Given the description of an element on the screen output the (x, y) to click on. 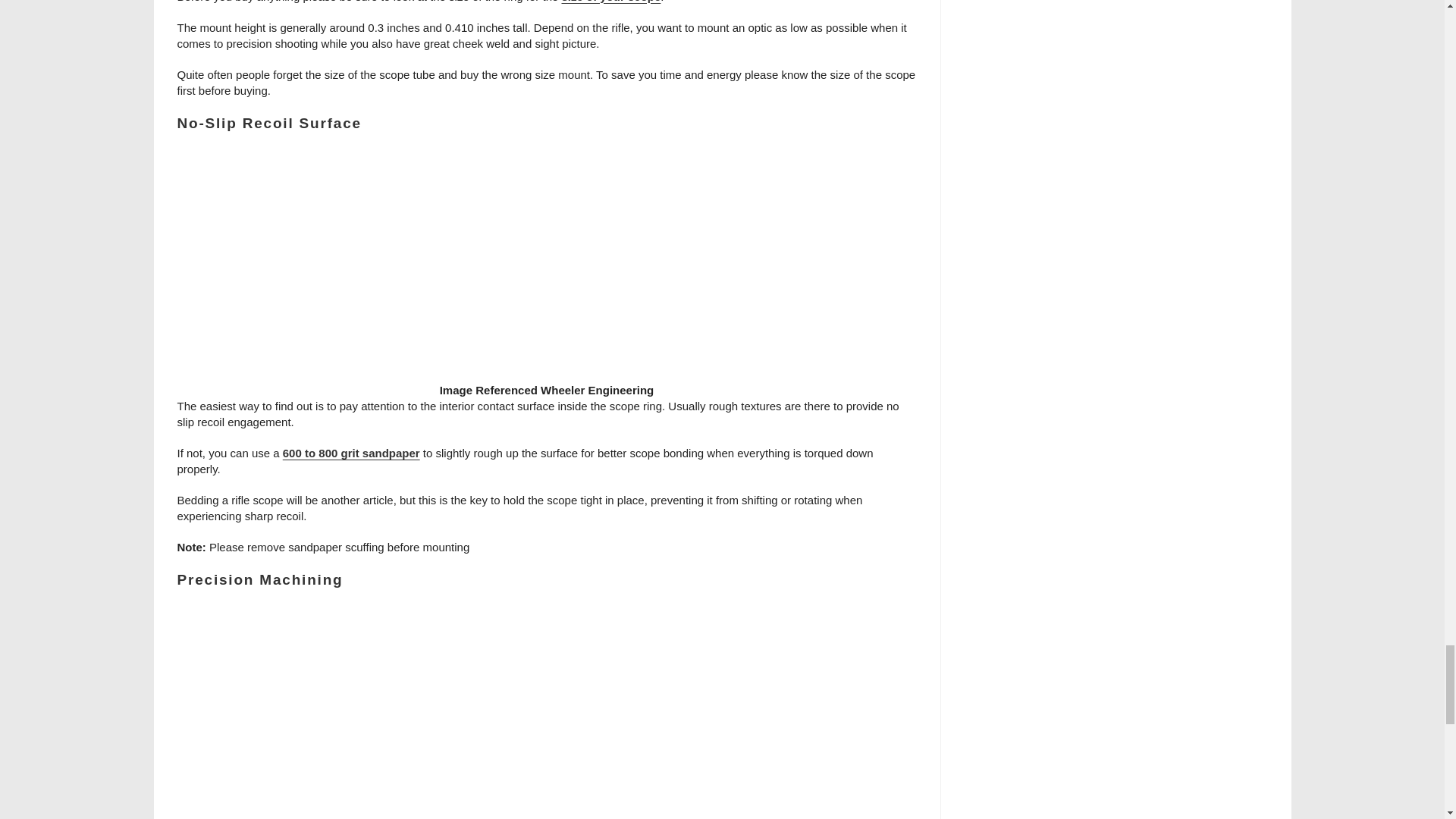
Best 30mm Scope Rings For The Money 7 (546, 265)
Best 30mm Scope Rings For The Money 8 (546, 712)
